Given the description of an element on the screen output the (x, y) to click on. 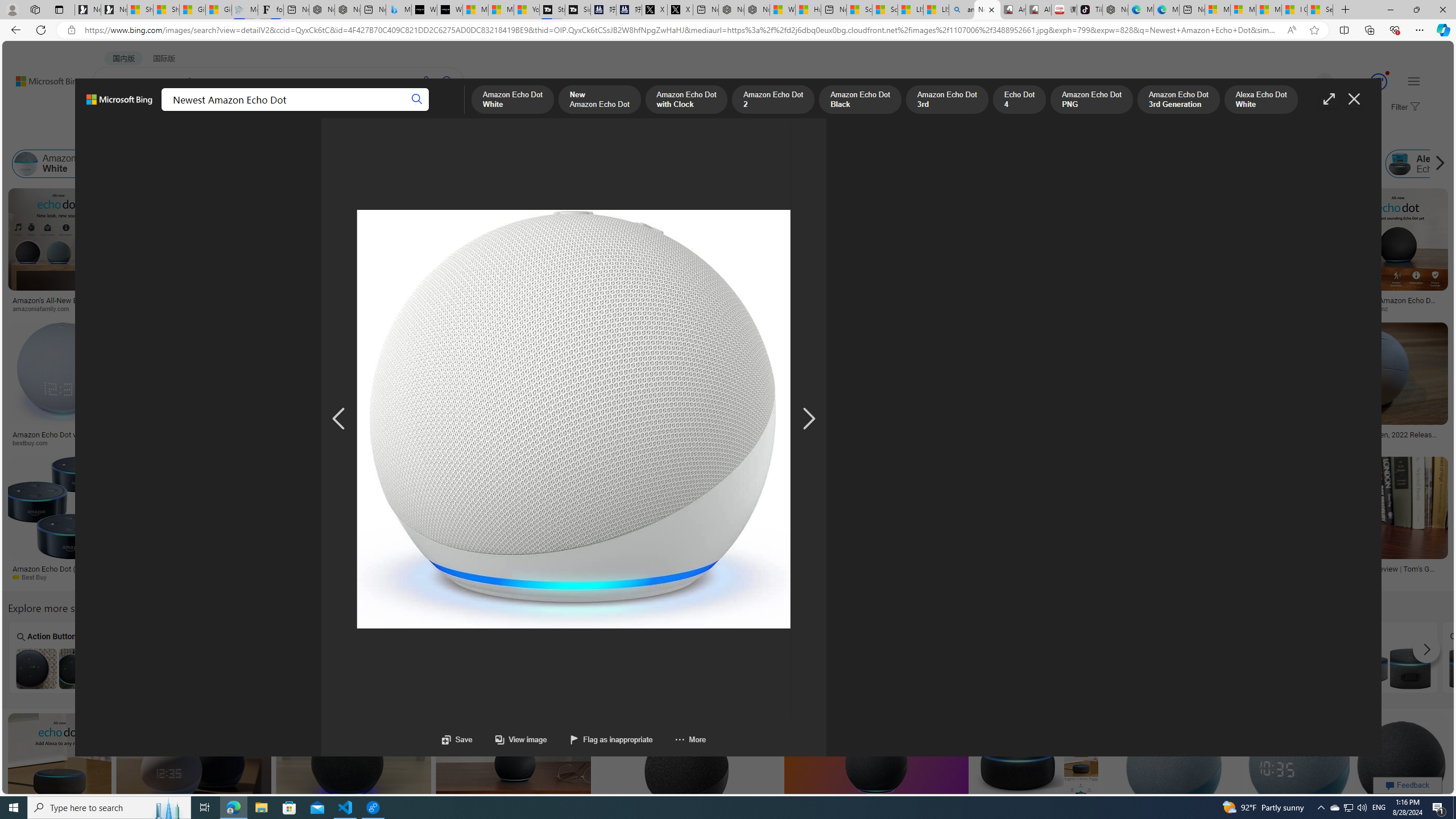
Amazon Echo Dot Carpher Carpher (978, 656)
Amazon Echo Dot Sales Chart Sales Chart (1286, 656)
Back to Bing search (41, 78)
eftm.com (255, 442)
Close image (1352, 99)
Class: outer-circle-animation (1378, 81)
1 Generation (1184, 656)
amazon.com.au (1085, 308)
